Given the description of an element on the screen output the (x, y) to click on. 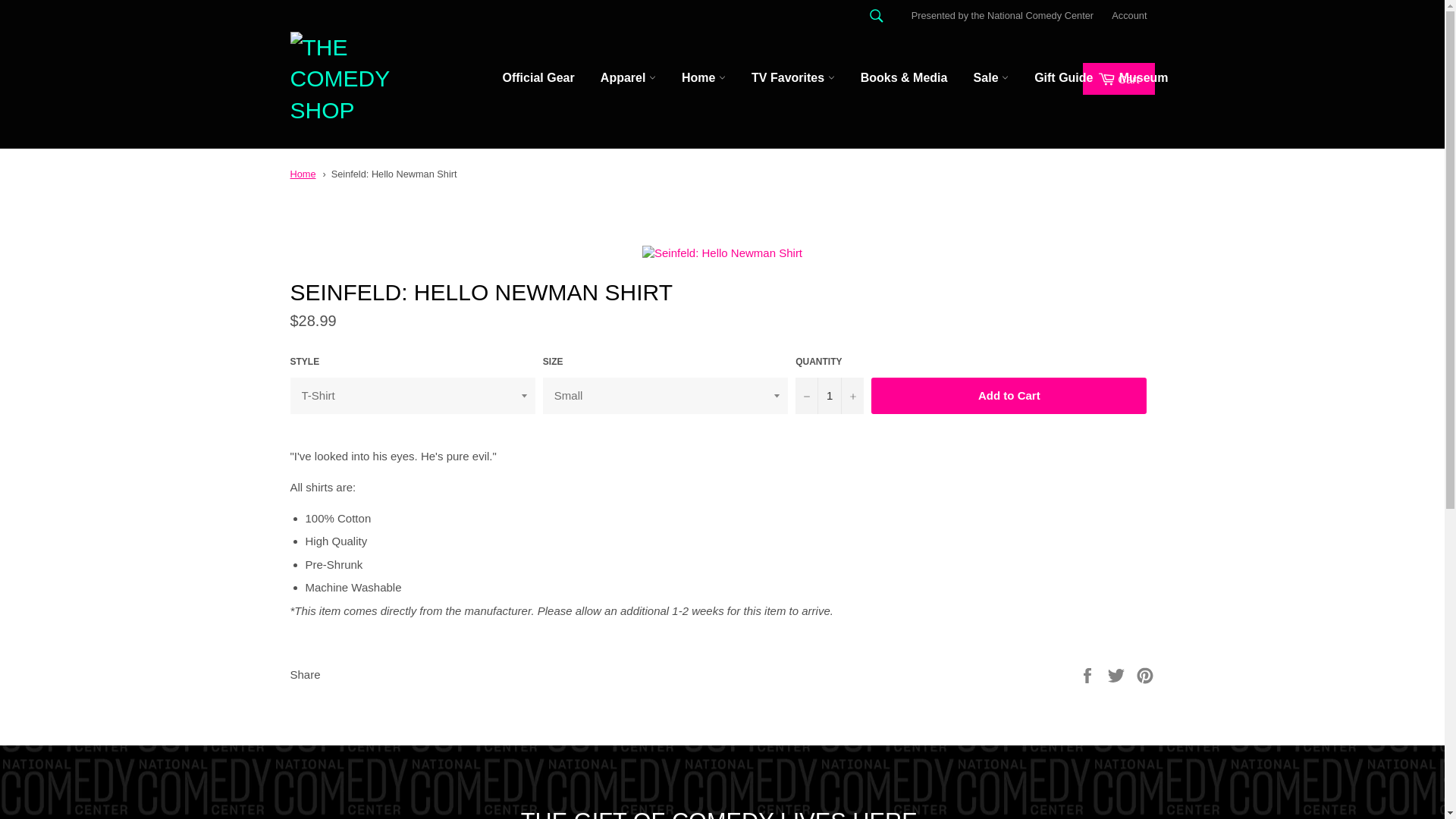
Tweet on Twitter (1117, 674)
Home (302, 173)
1 (828, 395)
Pin on Pinterest (1144, 674)
Share on Facebook (1088, 674)
